Given the description of an element on the screen output the (x, y) to click on. 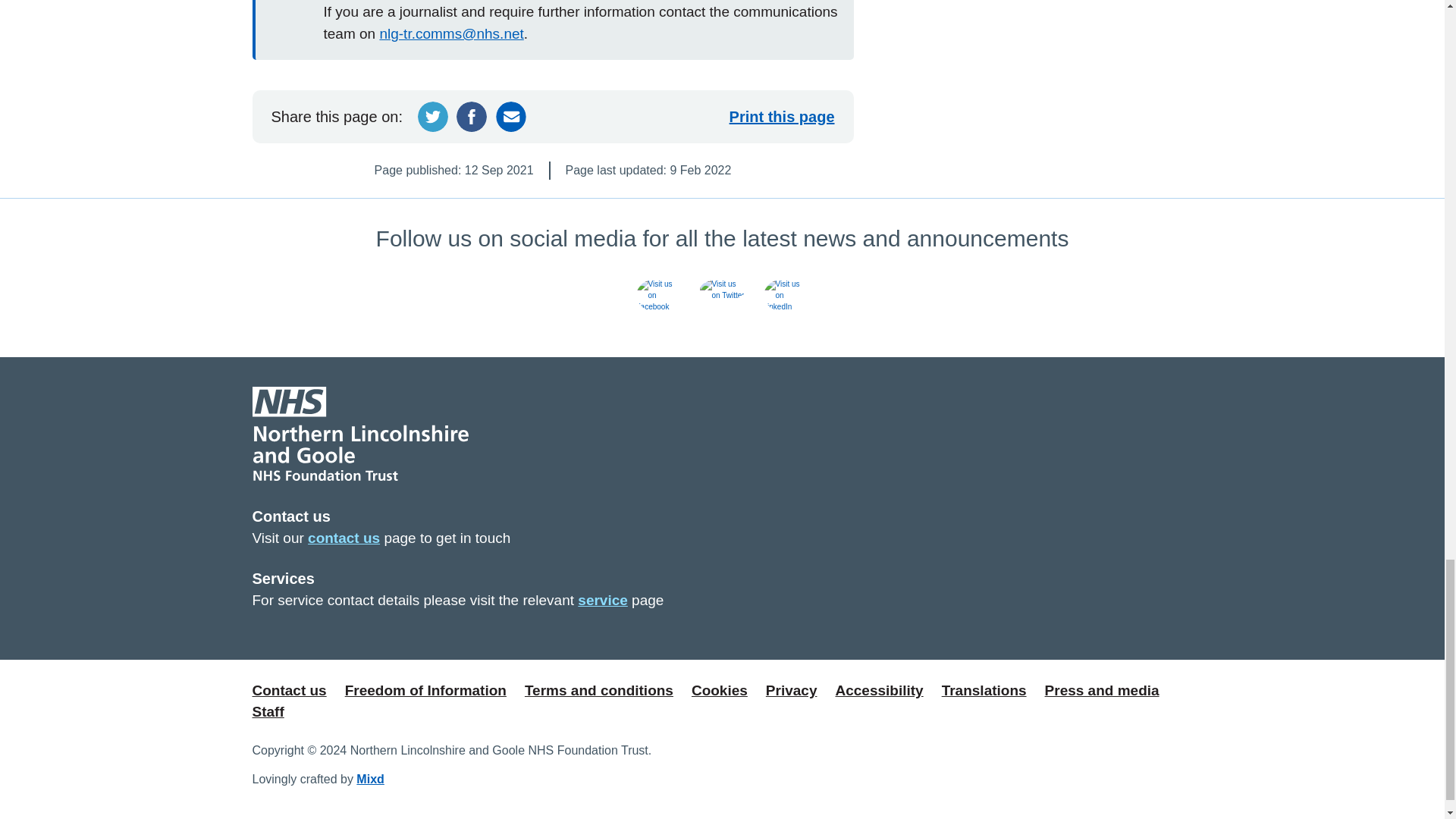
Share on Twitter (432, 116)
Share on Facebook (471, 116)
Share via Email (510, 116)
